Given the description of an element on the screen output the (x, y) to click on. 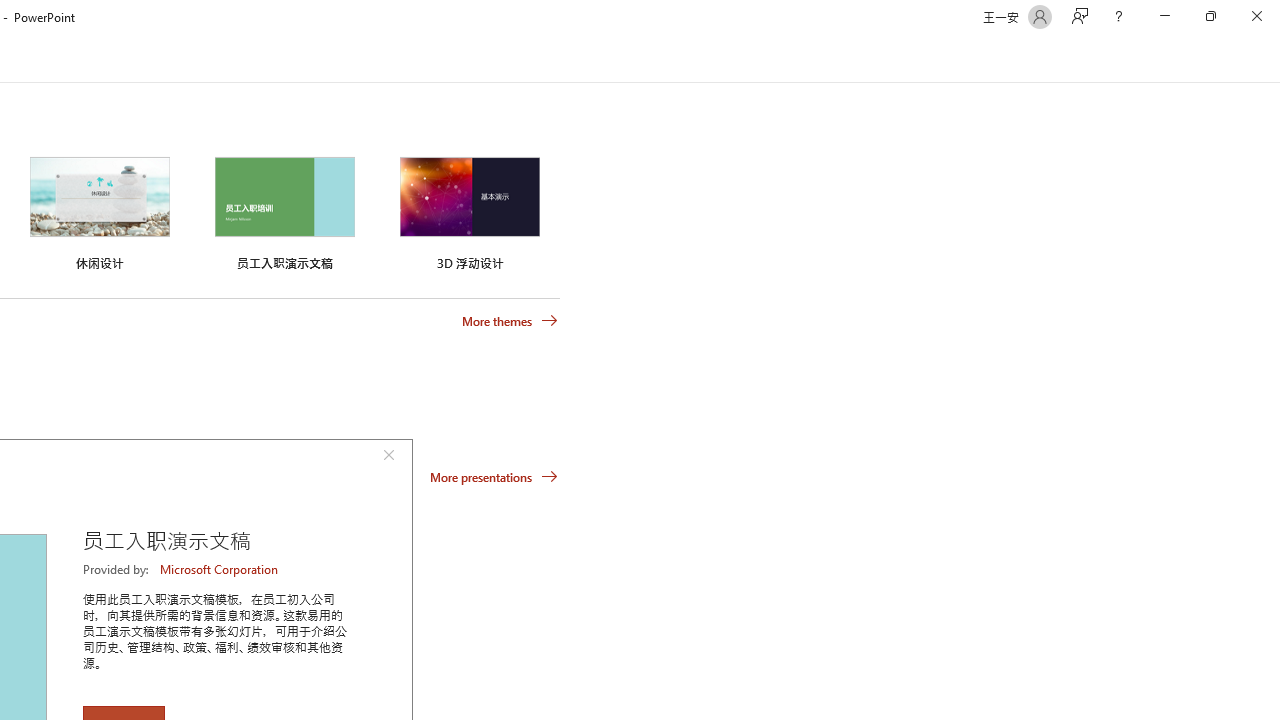
Microsoft Corporation (220, 569)
Class: NetUIScrollBar (1271, 59)
Close (1256, 16)
More themes (509, 321)
More presentations (493, 476)
Help (1118, 16)
Restore Down (1210, 16)
Minimize (1164, 16)
